Given the description of an element on the screen output the (x, y) to click on. 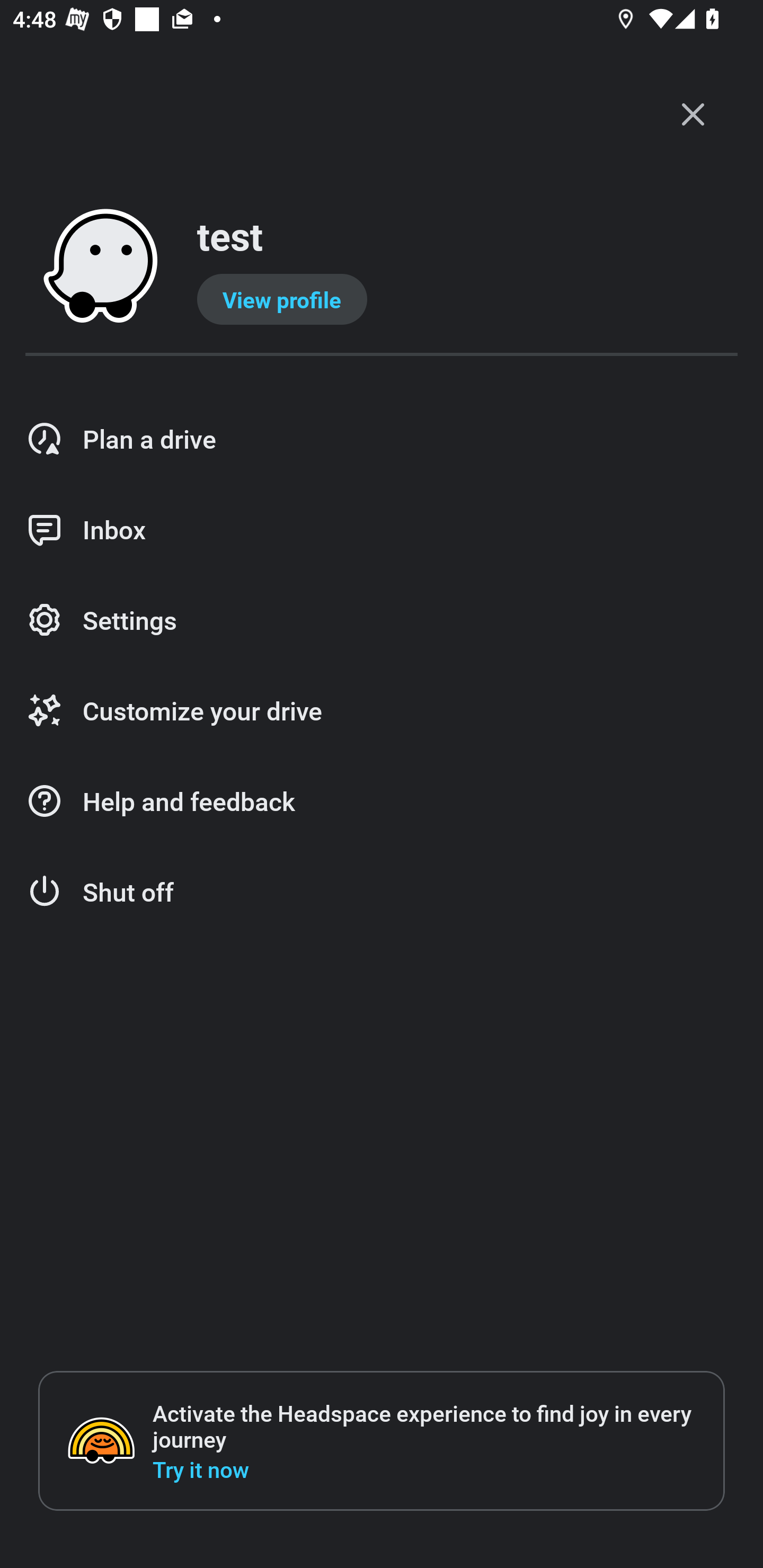
test View profile (381, 266)
View profile (281, 299)
ACTION_CELL_ICON Plan a drive ACTION_CELL_TEXT (381, 438)
ACTION_CELL_ICON Inbox ACTION_CELL_TEXT (381, 529)
ACTION_CELL_ICON Settings ACTION_CELL_TEXT (381, 620)
ACTION_CELL_ICON Shut off ACTION_CELL_TEXT (381, 891)
